Given the description of an element on the screen output the (x, y) to click on. 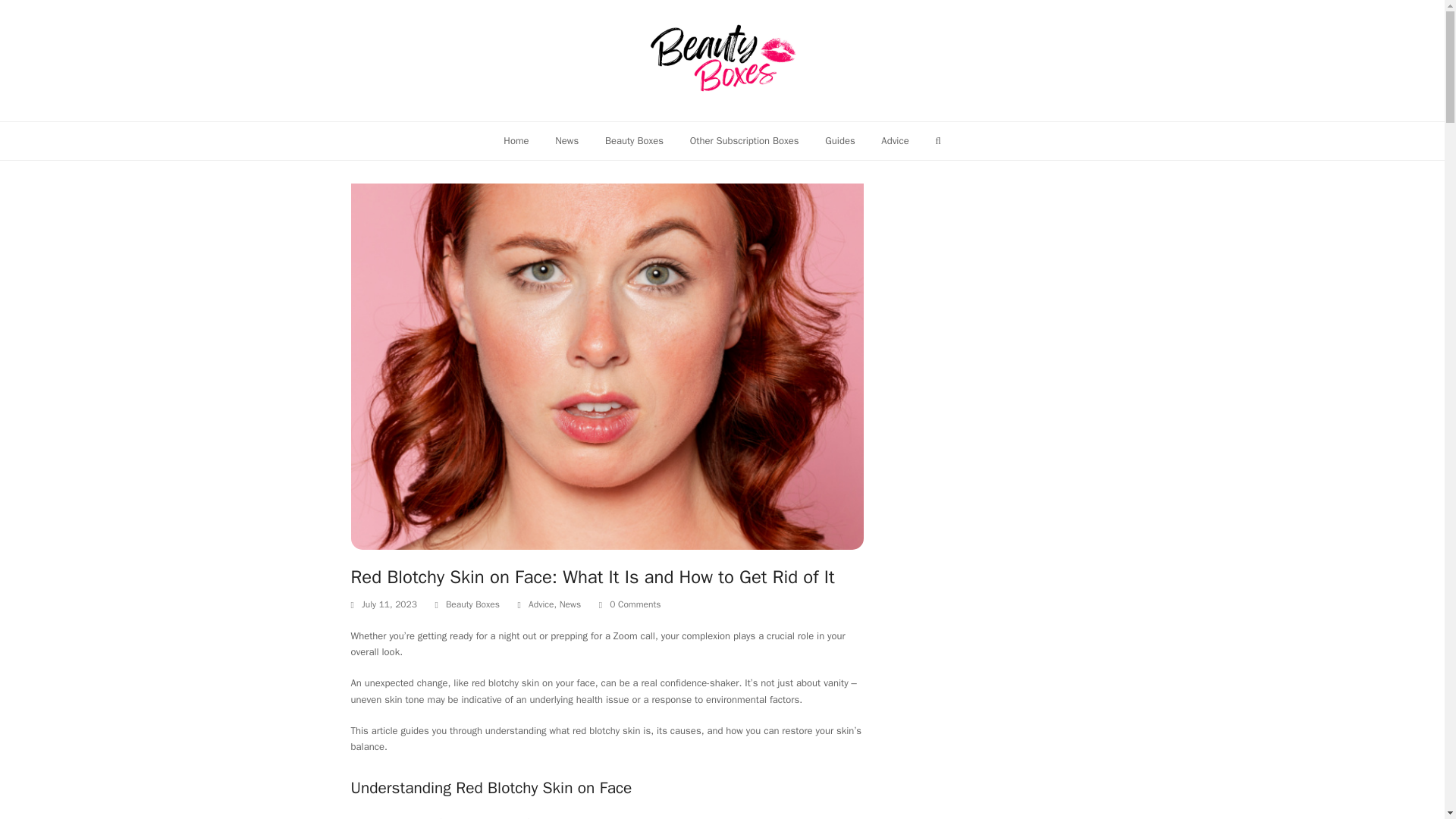
Beauty Boxes (472, 604)
News (569, 604)
Guides (839, 140)
Beauty Boxes (633, 140)
Home (516, 140)
Posts by Beauty Boxes (472, 604)
Other Subscription Boxes (744, 140)
News (567, 140)
0 Comments (635, 604)
Advice (541, 604)
0 Comments (629, 604)
Advice (894, 140)
